Given the description of an element on the screen output the (x, y) to click on. 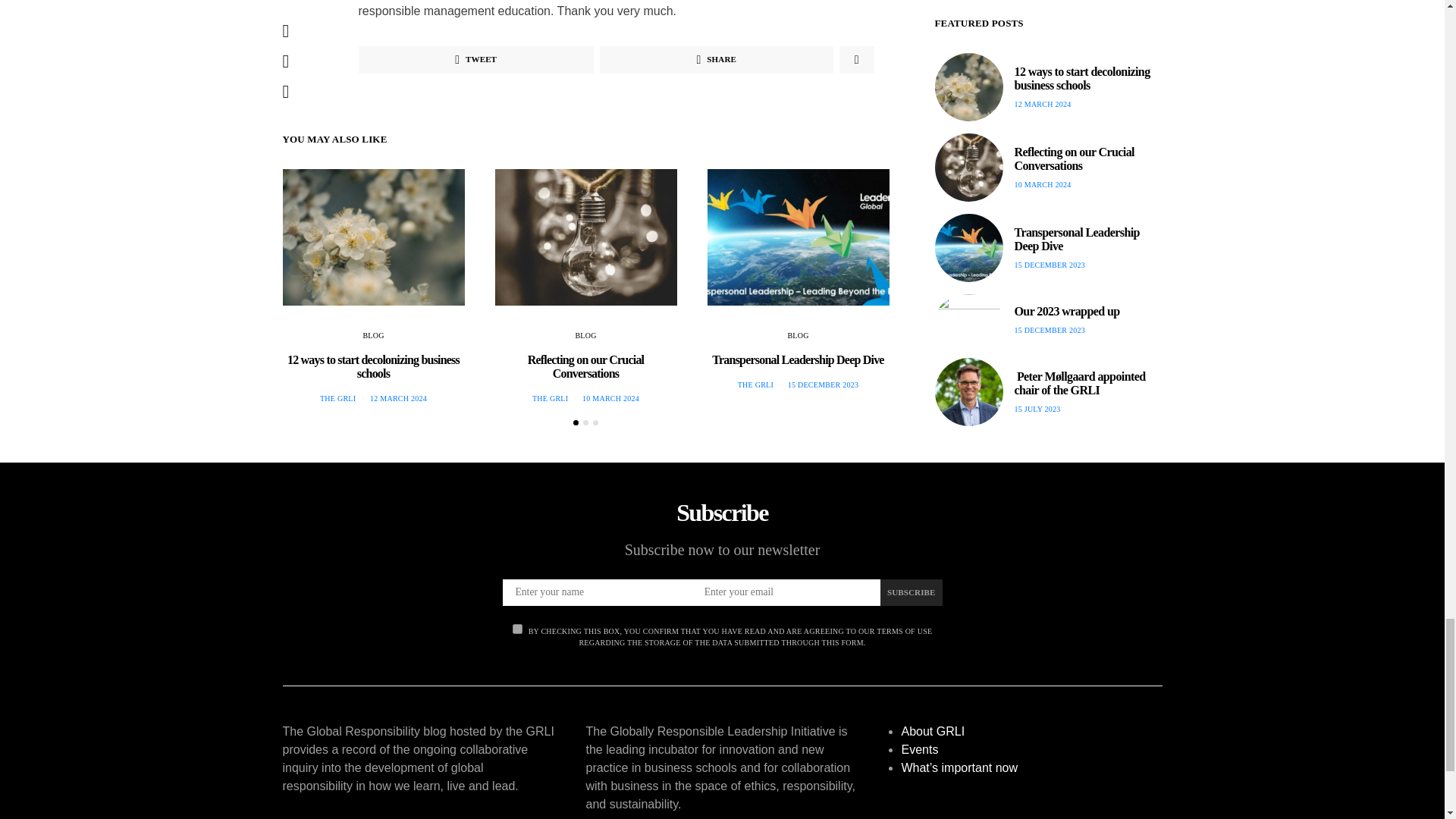
View all posts by The GRLI (337, 397)
View all posts by The GRLI (755, 384)
on (517, 628)
View all posts by The GRLI (549, 397)
